Given the description of an element on the screen output the (x, y) to click on. 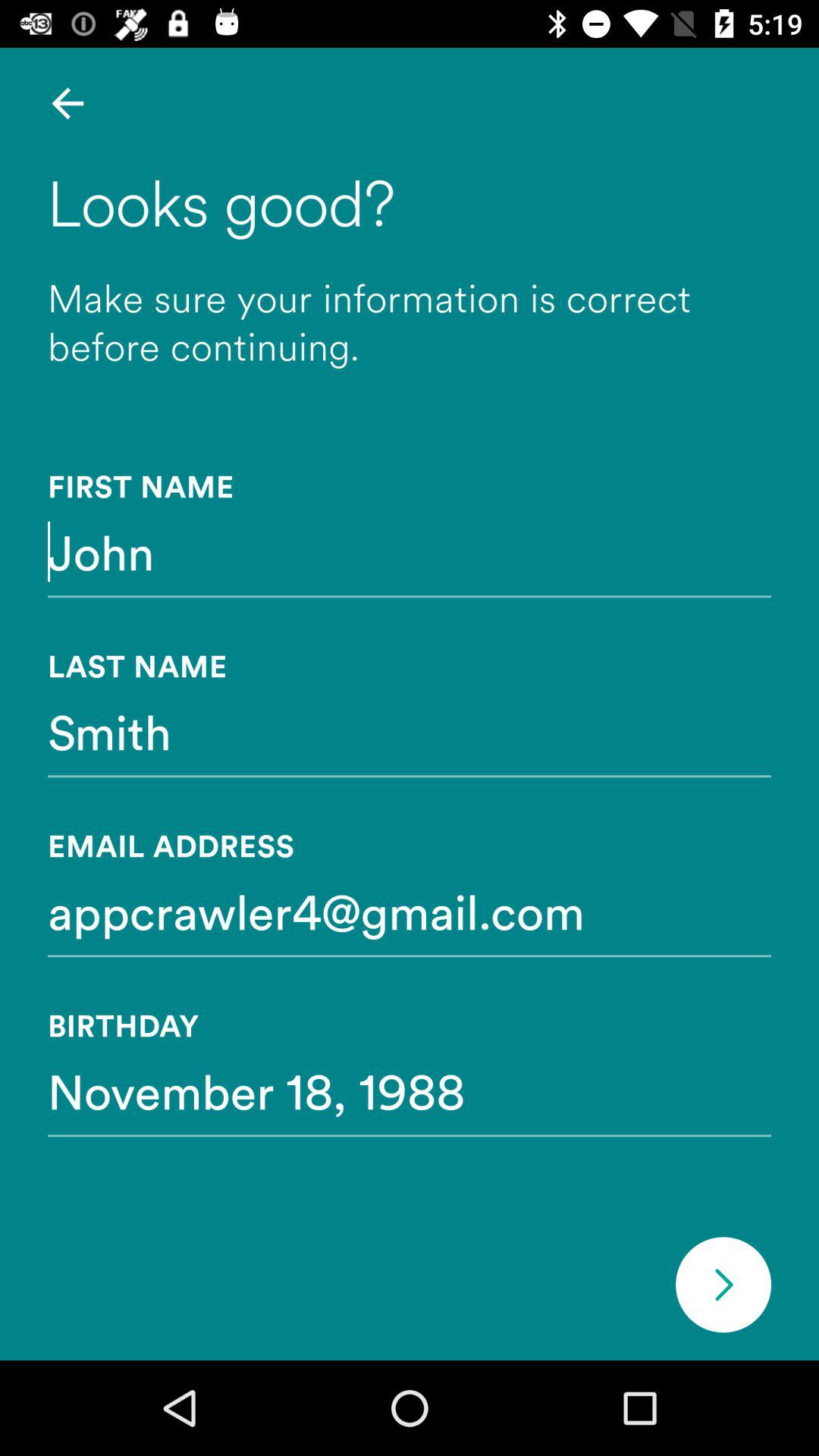
launch the icon above the email address item (409, 731)
